Given the description of an element on the screen output the (x, y) to click on. 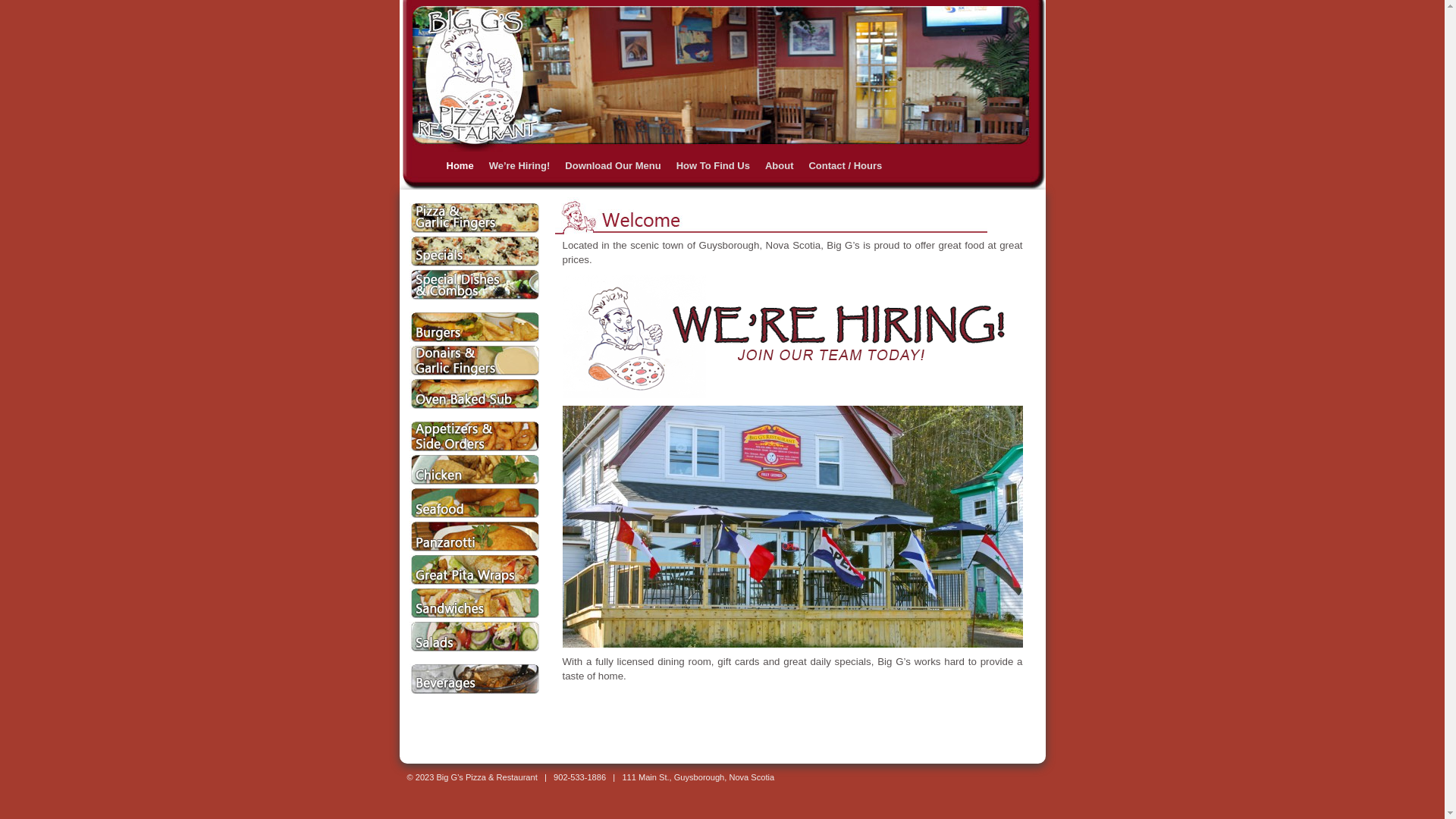
How To Find Us Element type: text (712, 165)
Contact / Hours Element type: text (844, 165)
Home Element type: text (459, 165)
Download Our Menu Element type: text (612, 165)
About Element type: text (779, 165)
